Given the description of an element on the screen output the (x, y) to click on. 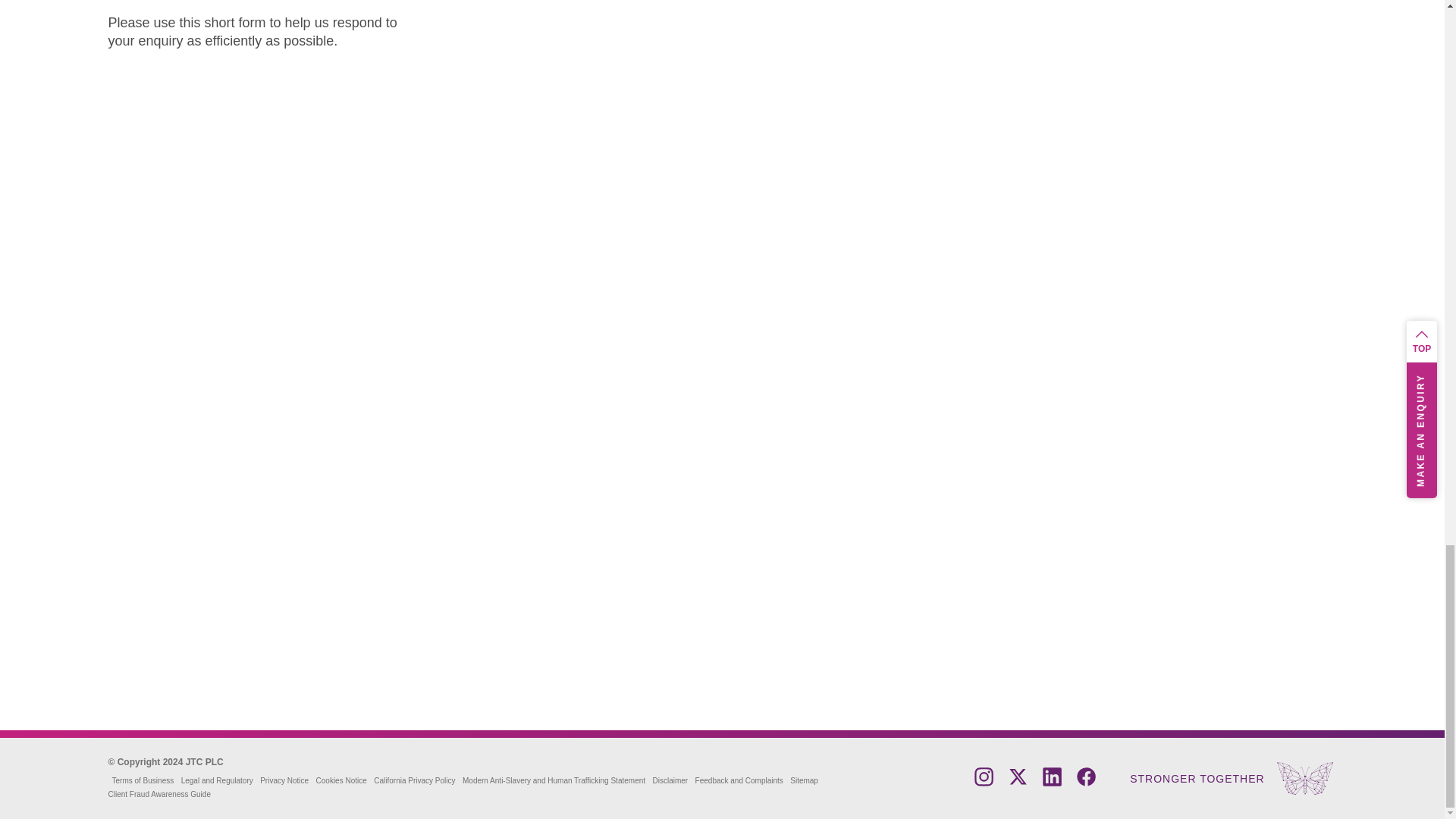
Twitter profile (1018, 781)
Linkedin profile (1051, 781)
Facebook profile (1086, 781)
Instagram profile (983, 781)
